Given the description of an element on the screen output the (x, y) to click on. 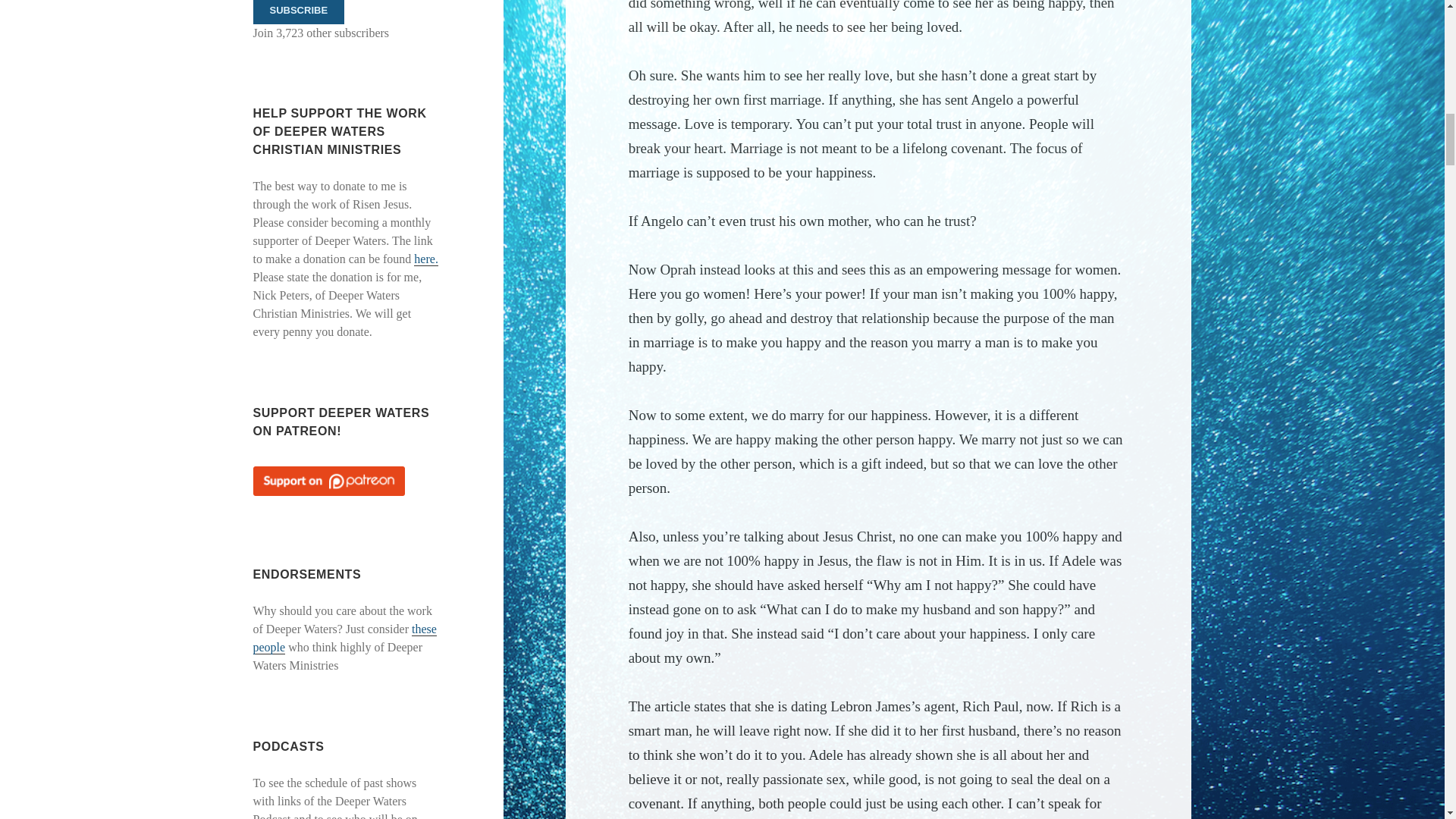
here. (425, 259)
these people (344, 638)
SUBSCRIBE (299, 12)
